Given the description of an element on the screen output the (x, y) to click on. 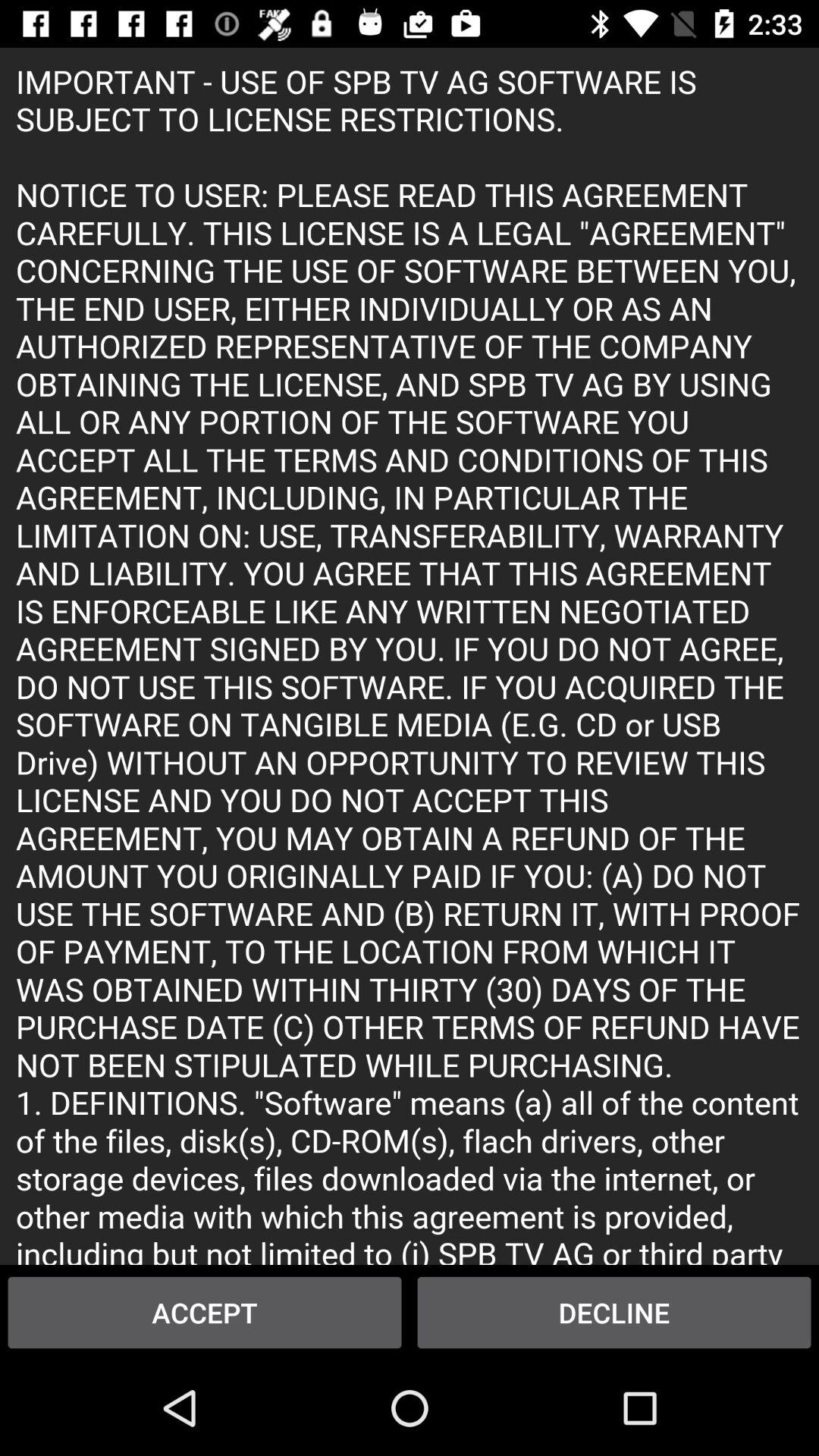
select item next to accept (614, 1312)
